Given the description of an element on the screen output the (x, y) to click on. 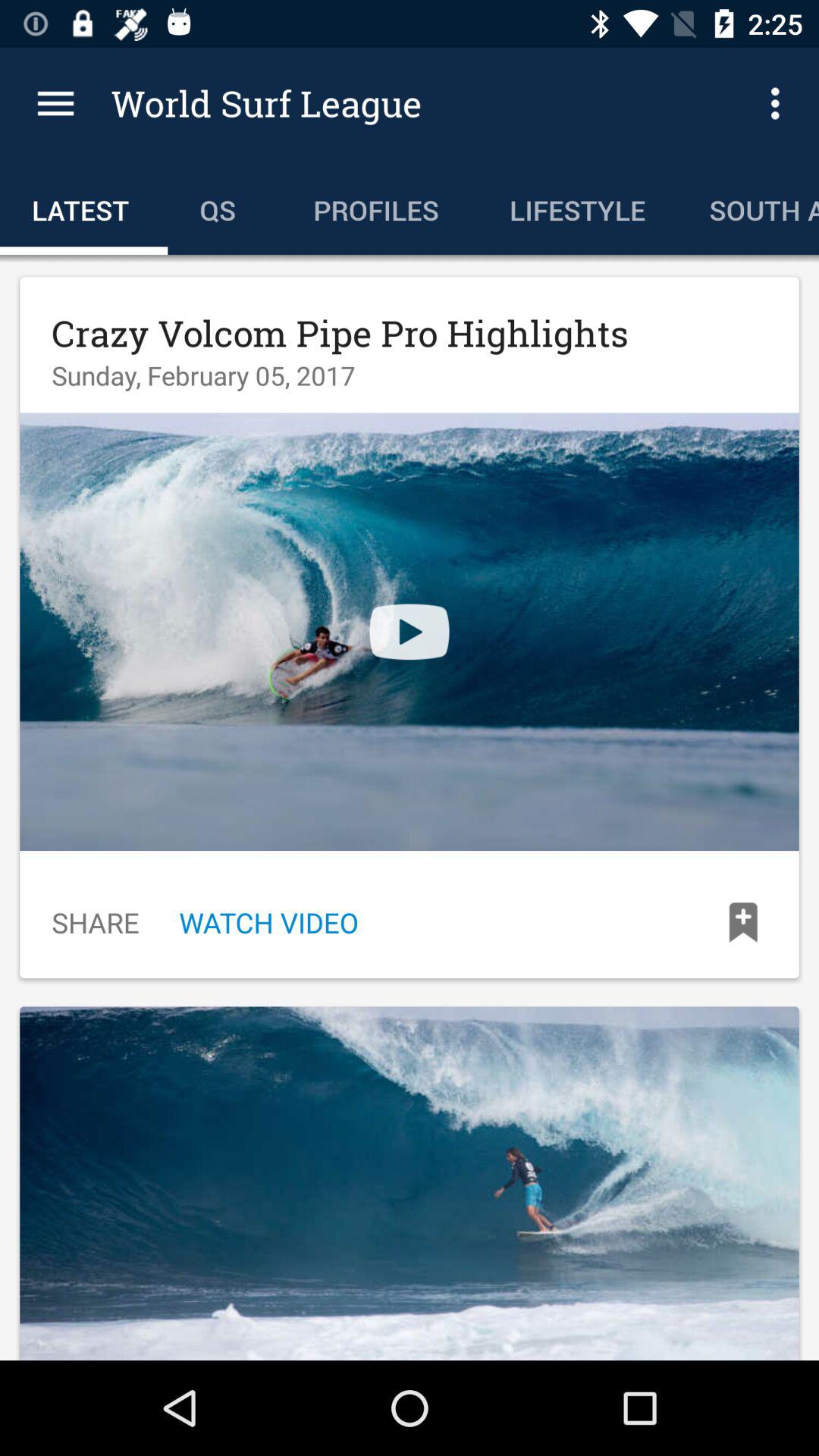
open icon next to watch video item (95, 922)
